Given the description of an element on the screen output the (x, y) to click on. 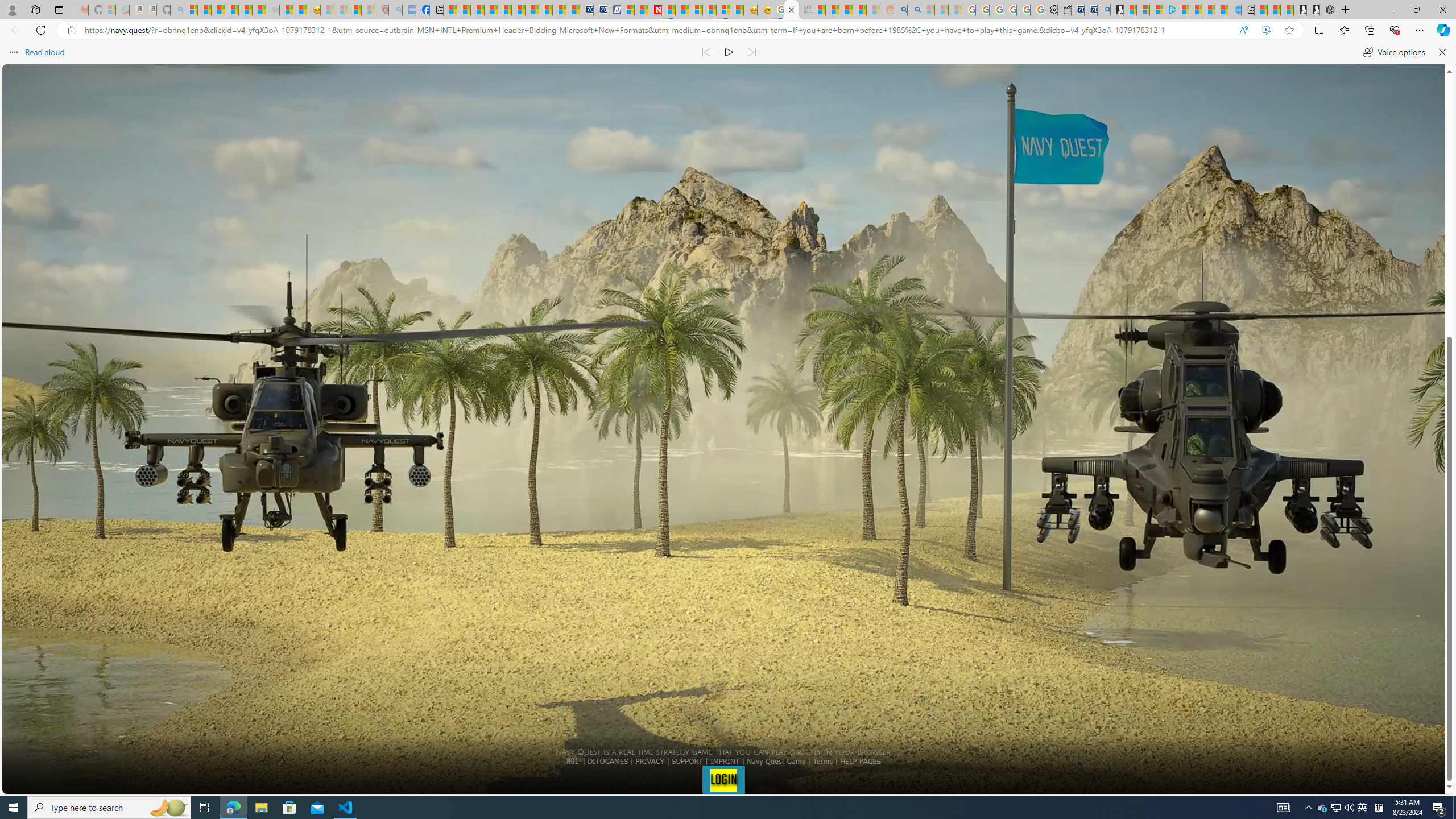
Latest Politics News & Archive | Newsweek.com (654, 9)
Combat Siege - Sleeping (271, 9)
